Given the description of an element on the screen output the (x, y) to click on. 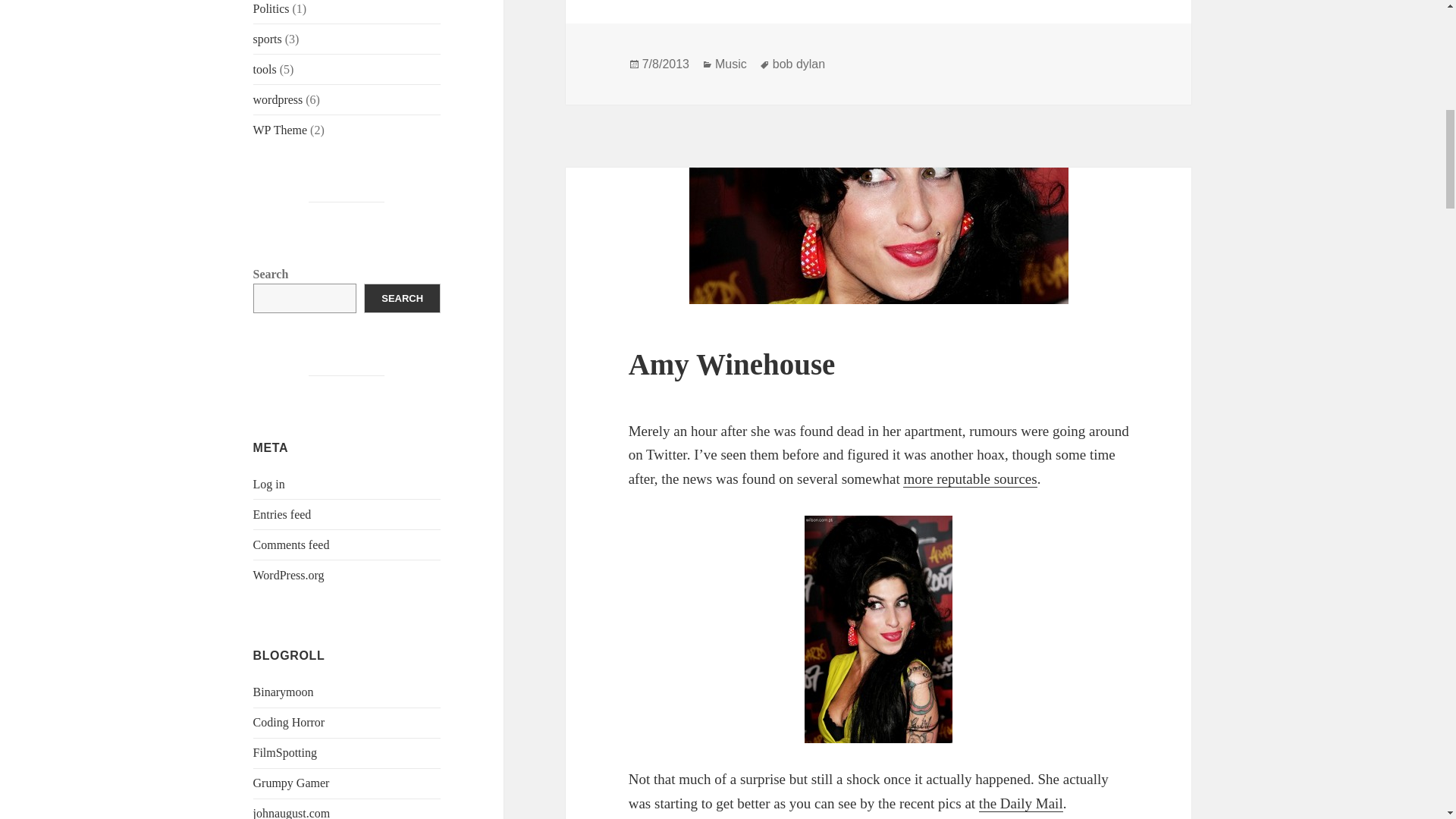
SEARCH (402, 297)
Entries feed (282, 513)
WordPress.org (288, 574)
Coding Horror (288, 721)
Great Film Podcast by Adam Kempenaar and multiple cohosts. (285, 752)
FilmSpotting (285, 752)
tools (264, 69)
Politics (271, 8)
WP Theme (280, 129)
Grumpy Gamer (291, 782)
Binarymoon (283, 691)
Log in (269, 483)
Comments feed (291, 544)
sports (267, 38)
wordpress (277, 99)
